Given the description of an element on the screen output the (x, y) to click on. 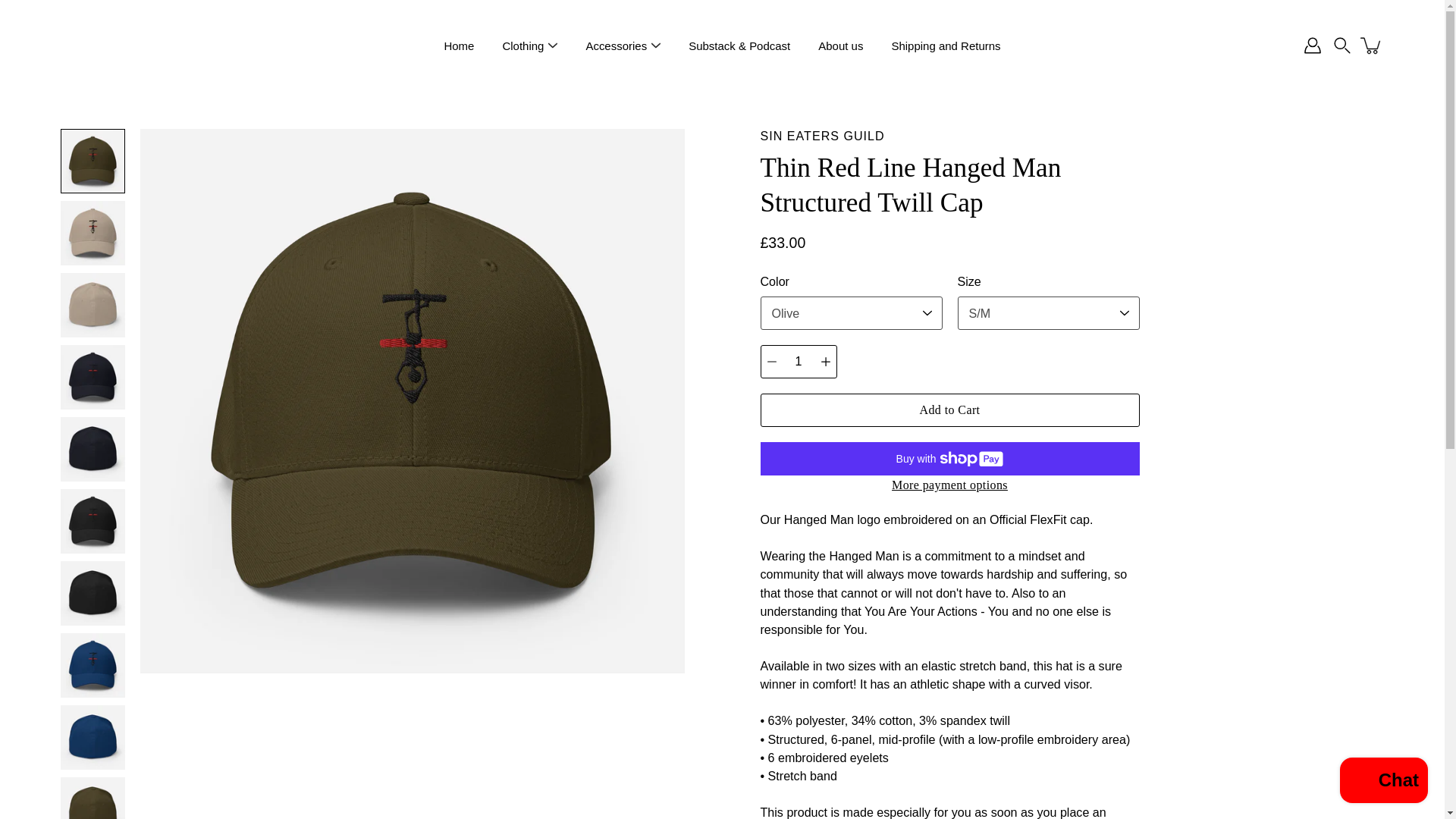
Shopify online store chat (1383, 781)
Clothing (522, 45)
Home (459, 45)
Search (1342, 45)
1 (797, 361)
